Given the description of an element on the screen output the (x, y) to click on. 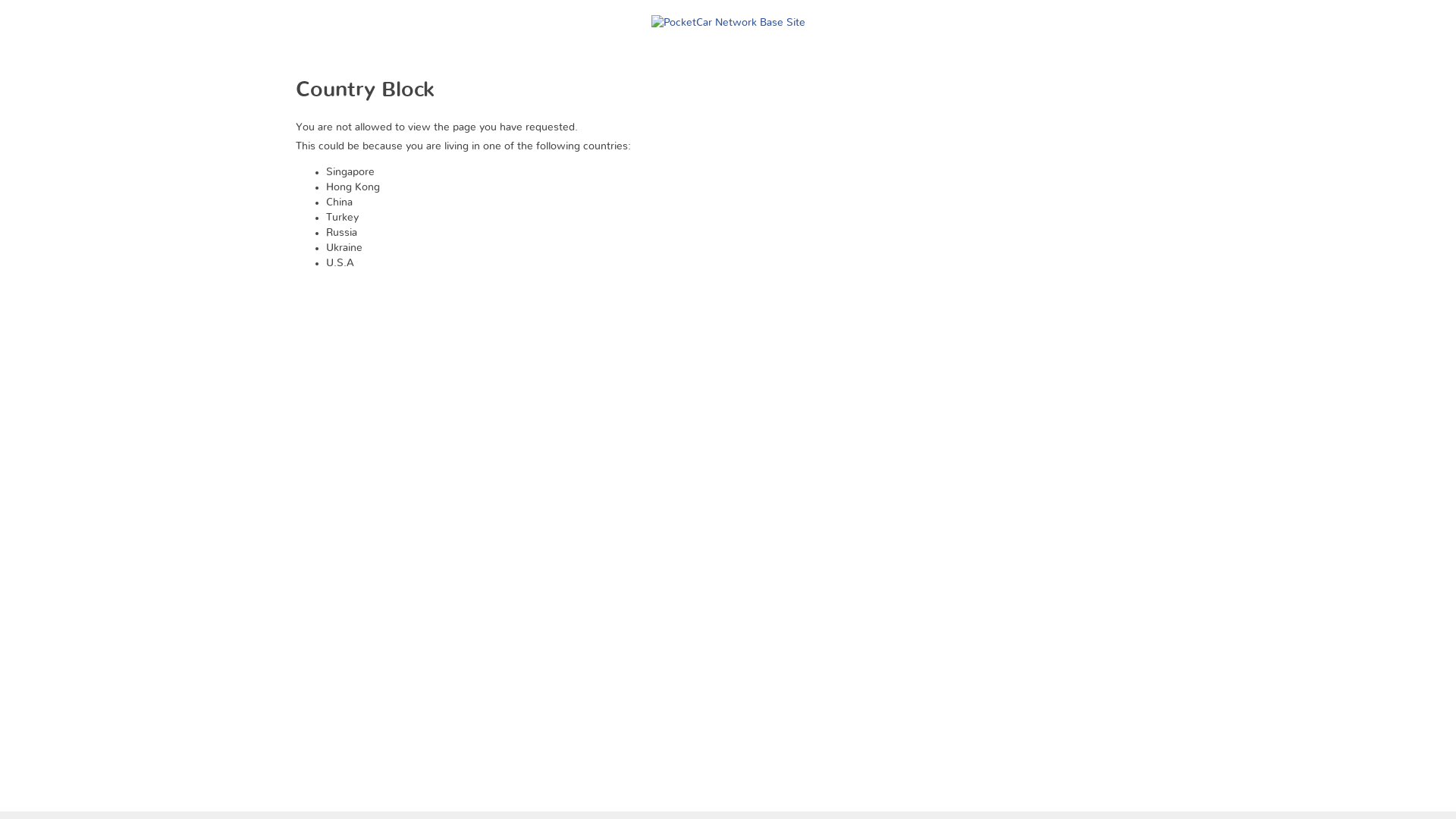
PocketCar Network Base Site Element type: hover (727, 14)
